Given the description of an element on the screen output the (x, y) to click on. 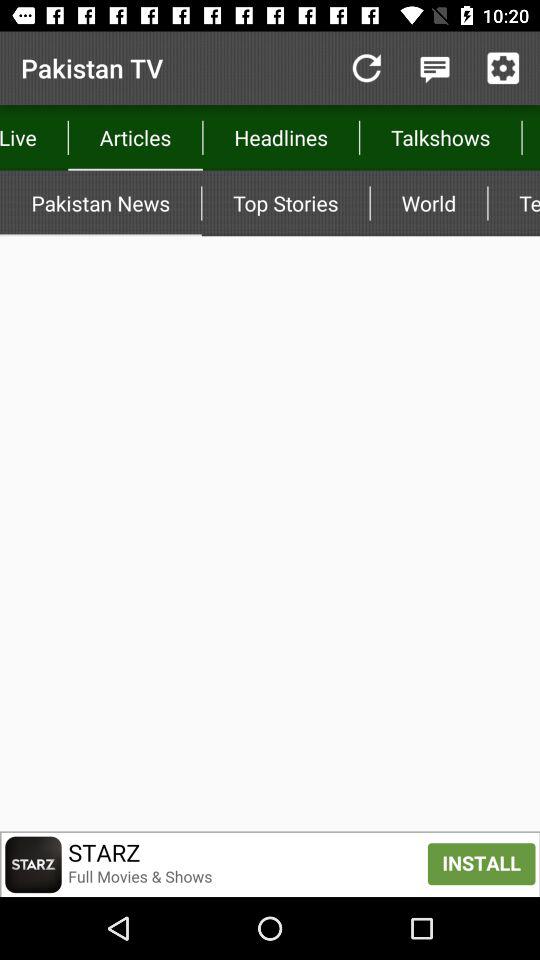
flip to the world icon (428, 203)
